Given the description of an element on the screen output the (x, y) to click on. 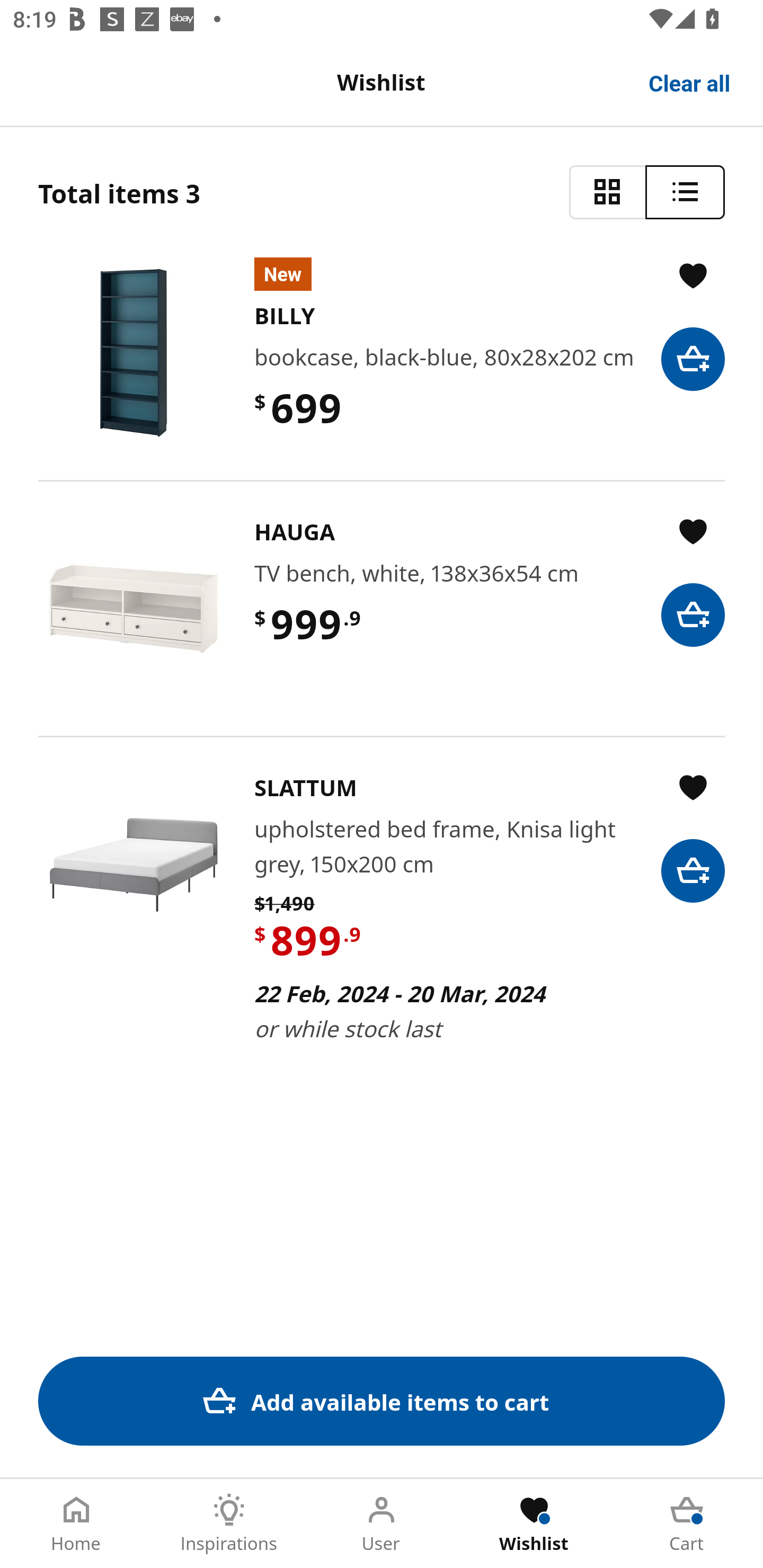
Clear all (689, 81)
​H​A​U​G​A​
TV bench, white, 138x36x54 cm
$
999
.9 (381, 608)
Add available items to cart (381, 1400)
Home
Tab 1 of 5 (76, 1522)
Inspirations
Tab 2 of 5 (228, 1522)
User
Tab 3 of 5 (381, 1522)
Wishlist
Tab 4 of 5 (533, 1522)
Cart
Tab 5 of 5 (686, 1522)
